Given the description of an element on the screen output the (x, y) to click on. 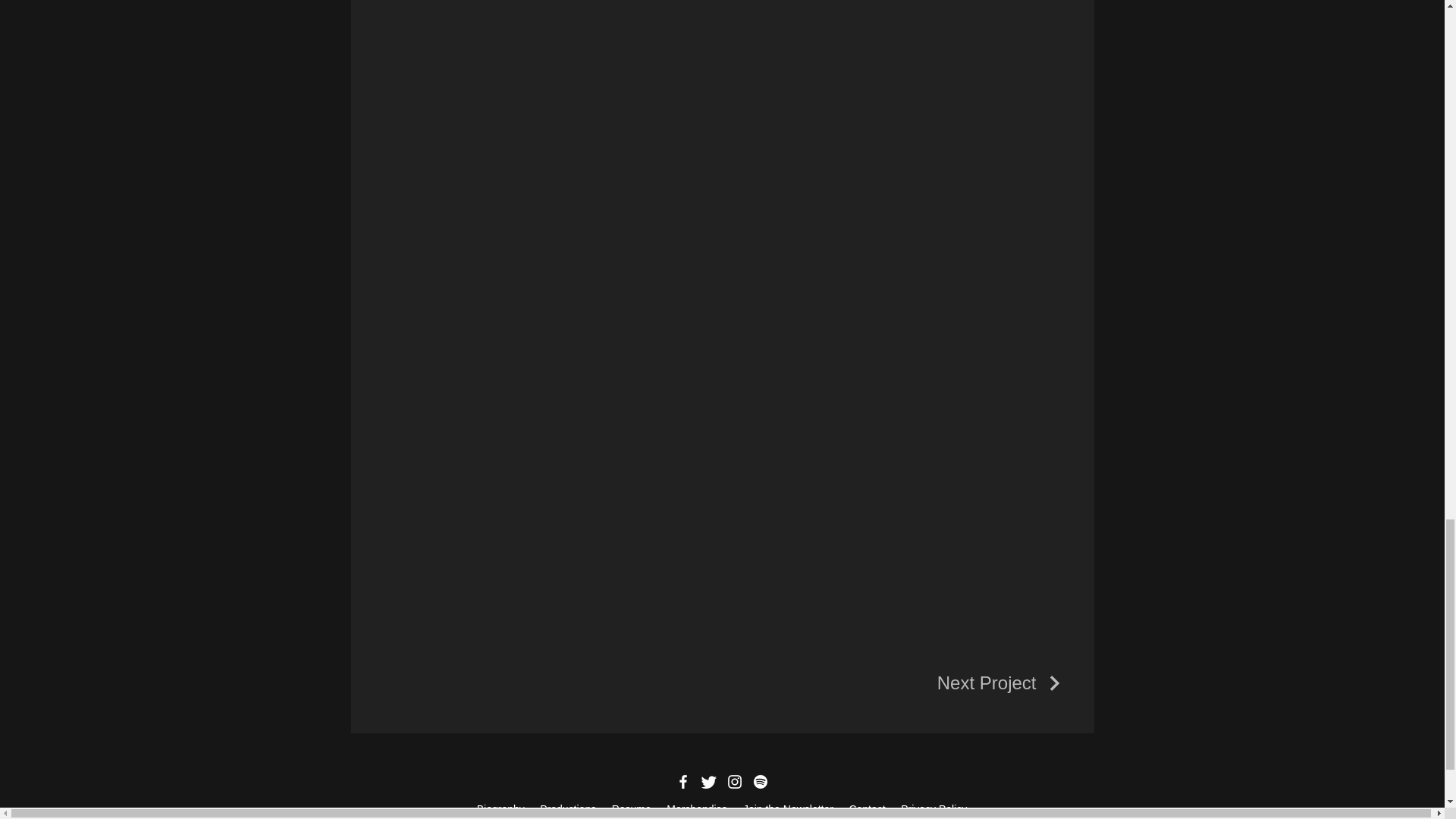
Next Project (1000, 682)
Resume  (632, 808)
Join the Newsletter  (788, 808)
Biography (500, 808)
Contact  (868, 808)
Productions (567, 808)
Merchandise (696, 808)
Privacy Policy (933, 808)
